Given the description of an element on the screen output the (x, y) to click on. 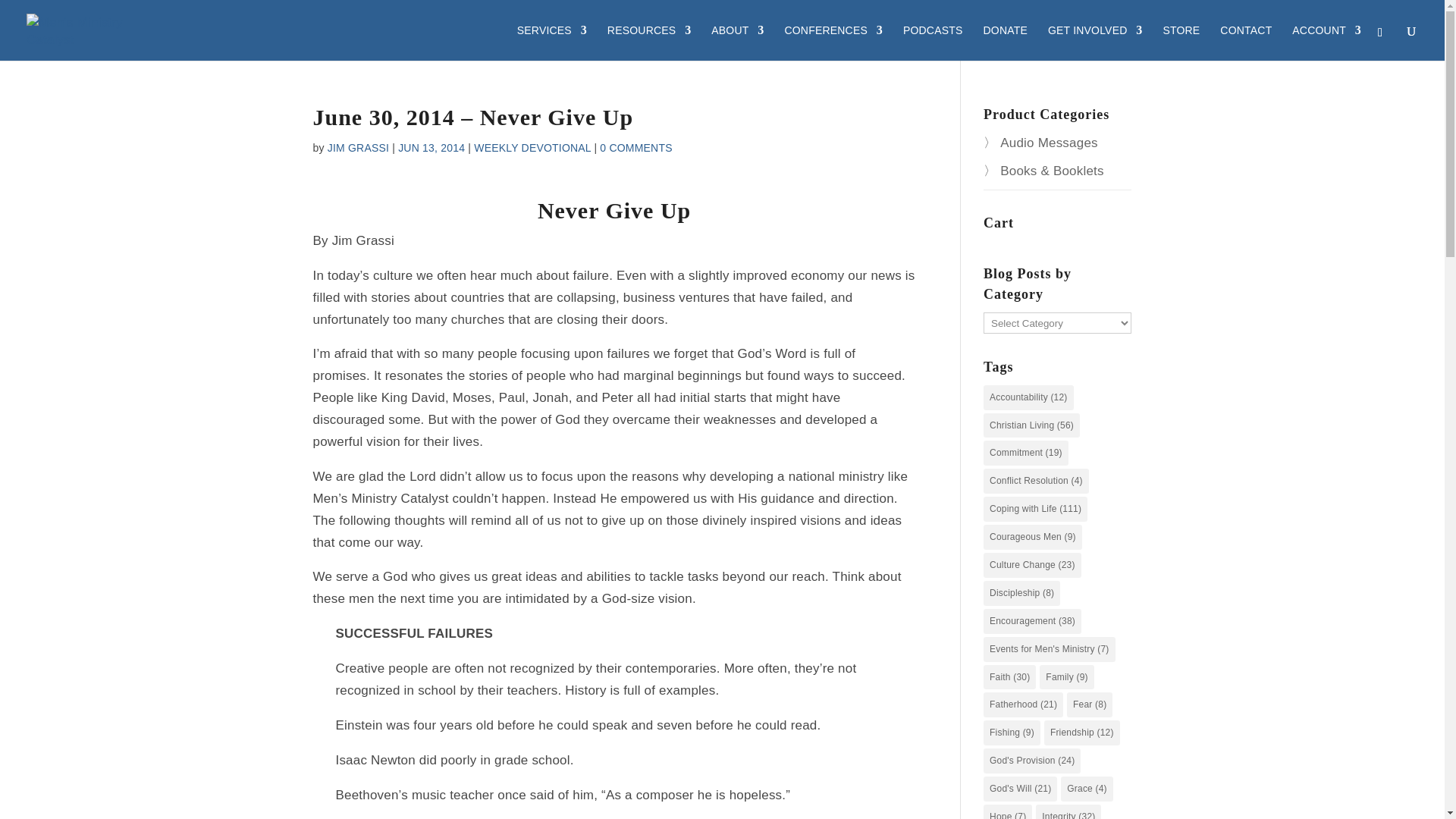
RESOURCES (648, 42)
SERVICES (551, 42)
ABOUT (736, 42)
Posts by Jim Grassi (357, 147)
